Given the description of an element on the screen output the (x, y) to click on. 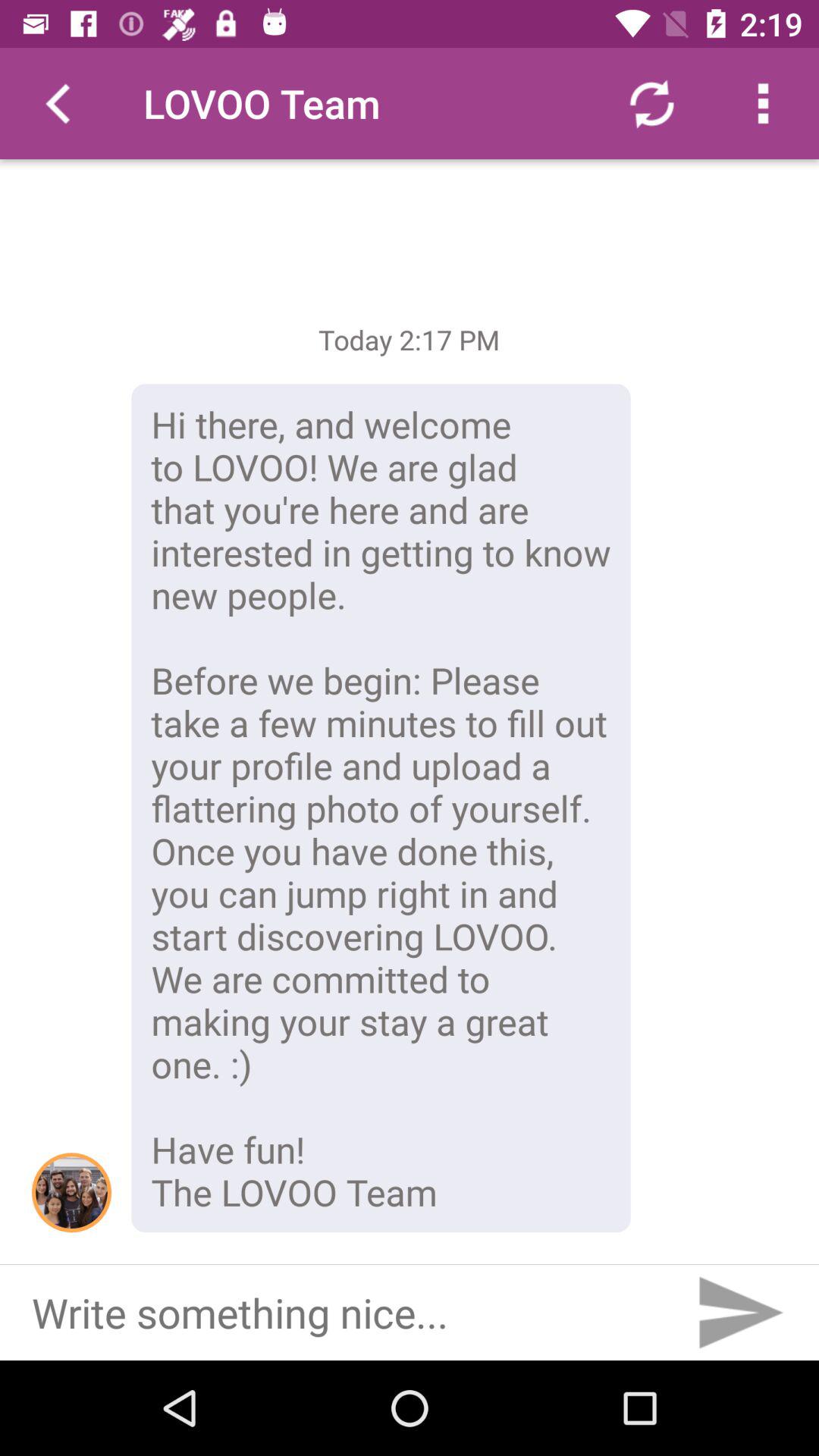
turn on the app to the left of the lovoo team icon (55, 103)
